Given the description of an element on the screen output the (x, y) to click on. 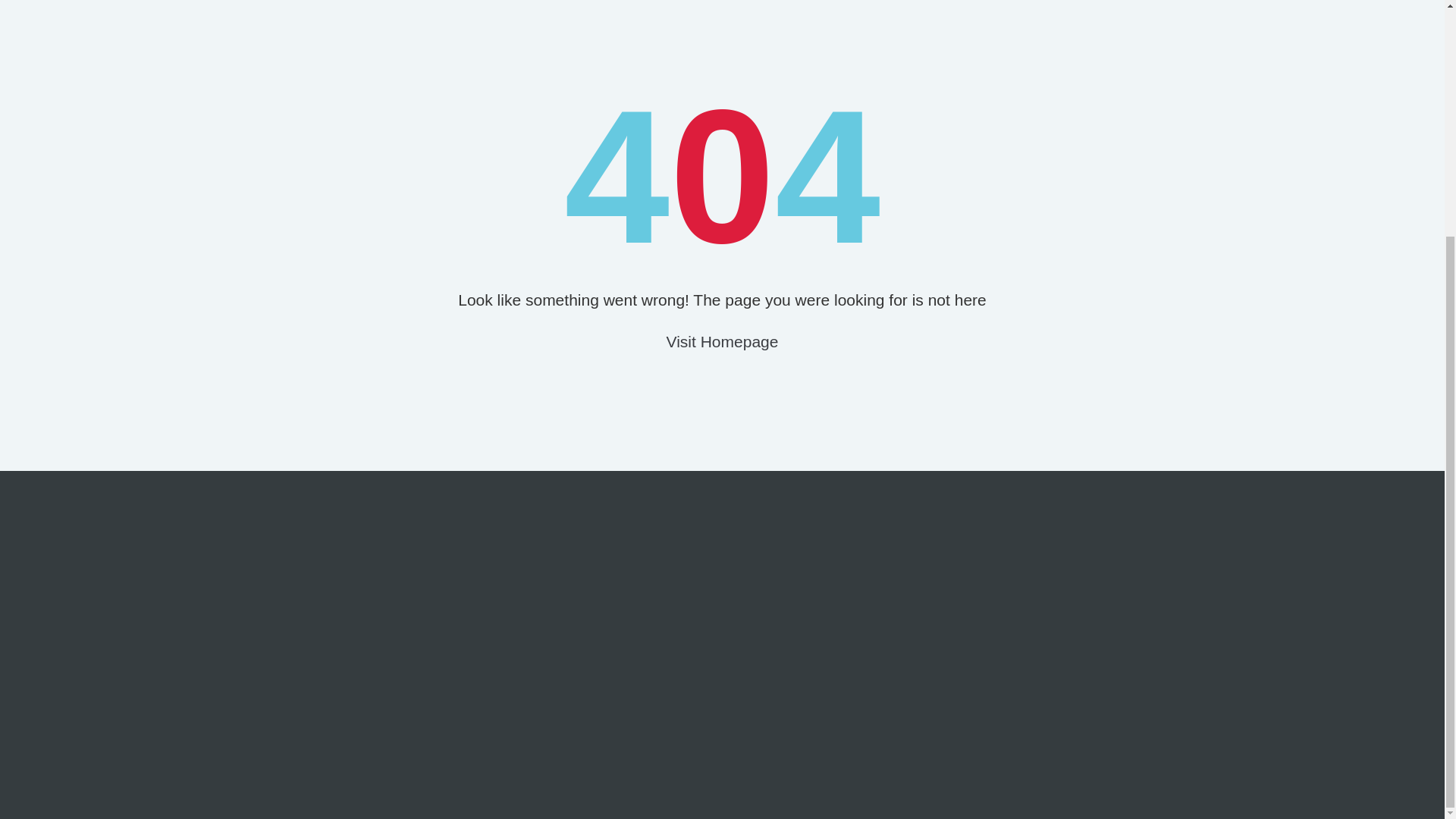
Visit Homepage (722, 341)
